Given the description of an element on the screen output the (x, y) to click on. 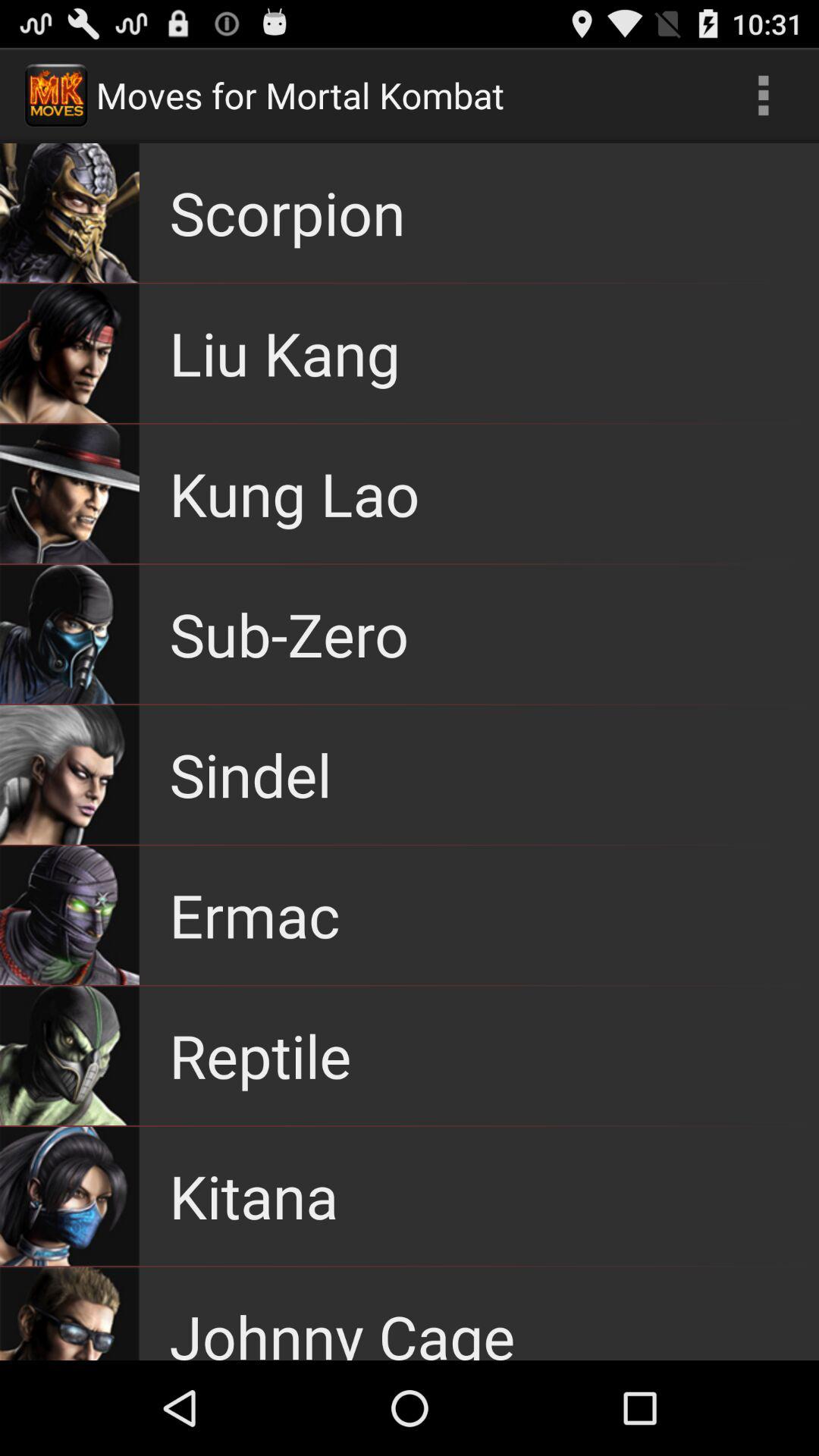
choose the app above the sub-zero (294, 493)
